Given the description of an element on the screen output the (x, y) to click on. 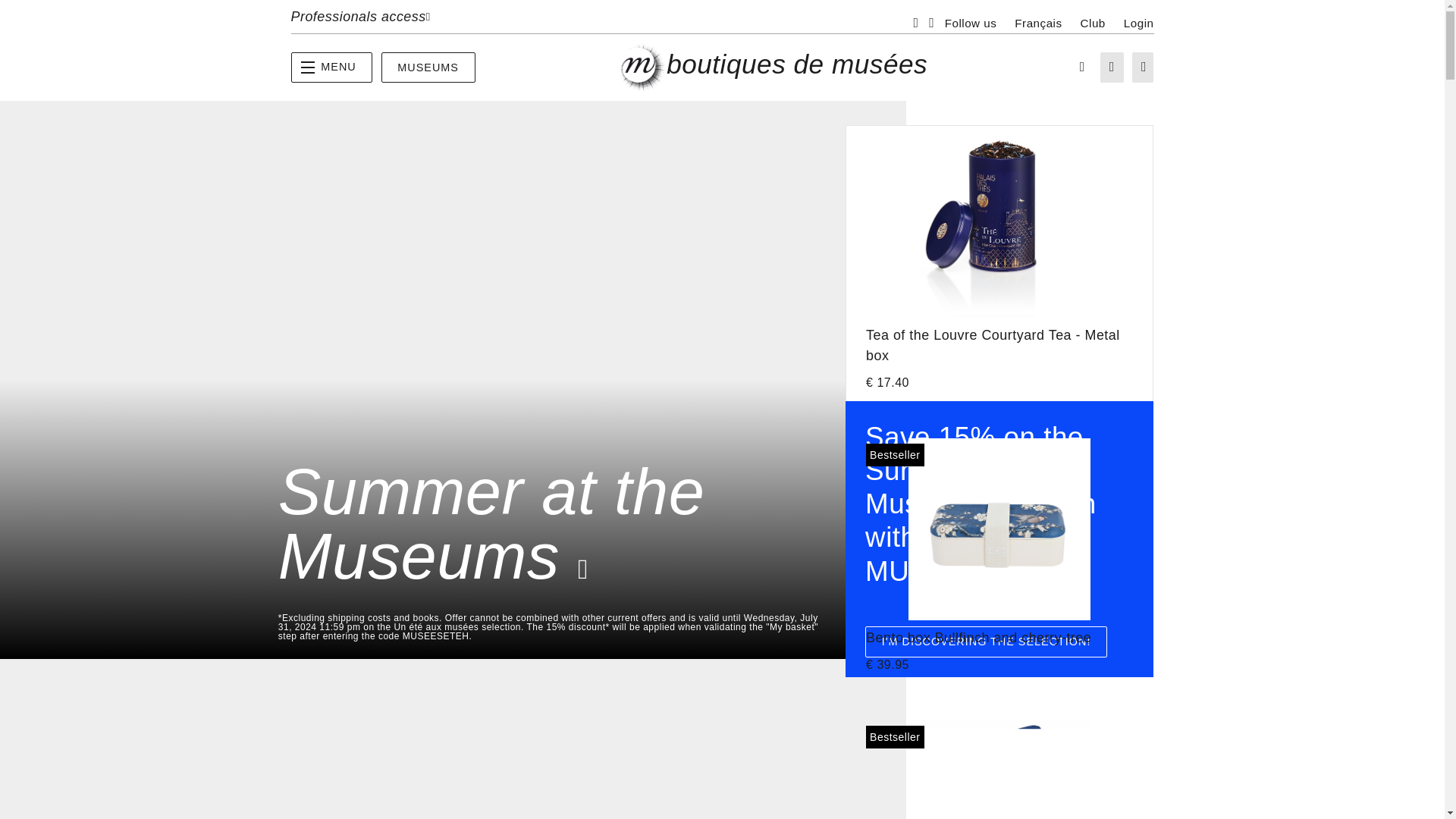
Login (1139, 23)
Professionals access (358, 16)
Main menu (331, 67)
Club (1092, 22)
MUSEUMS (428, 67)
MENU (331, 67)
Skip to menu (5, 5)
